Given the description of an element on the screen output the (x, y) to click on. 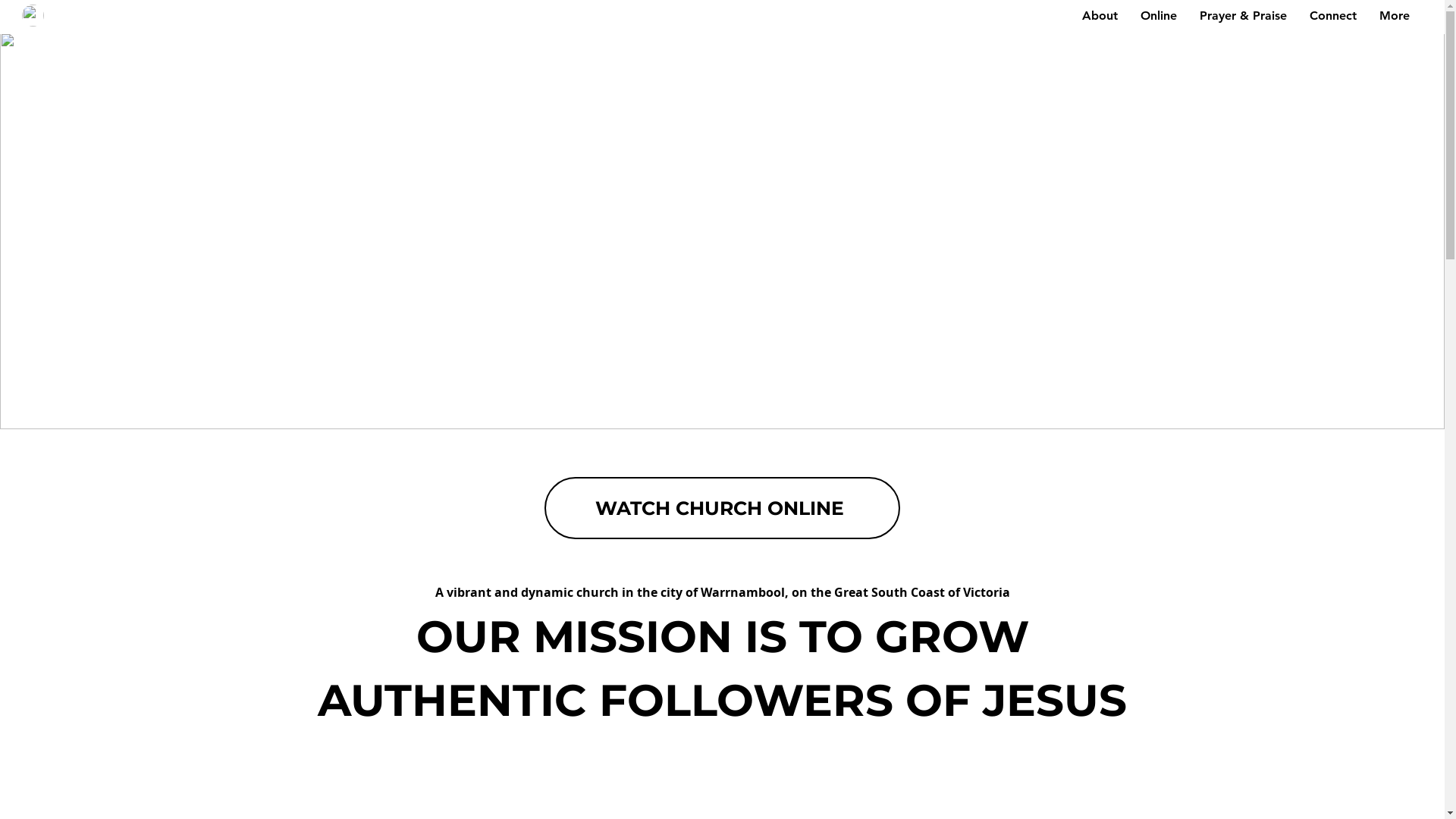
Prayer & Praise Element type: text (1243, 15)
About Element type: text (1099, 15)
Connect Element type: text (1333, 15)
WATCH CHURCH ONLINE Element type: text (722, 507)
Online Element type: text (1158, 15)
